Given the description of an element on the screen output the (x, y) to click on. 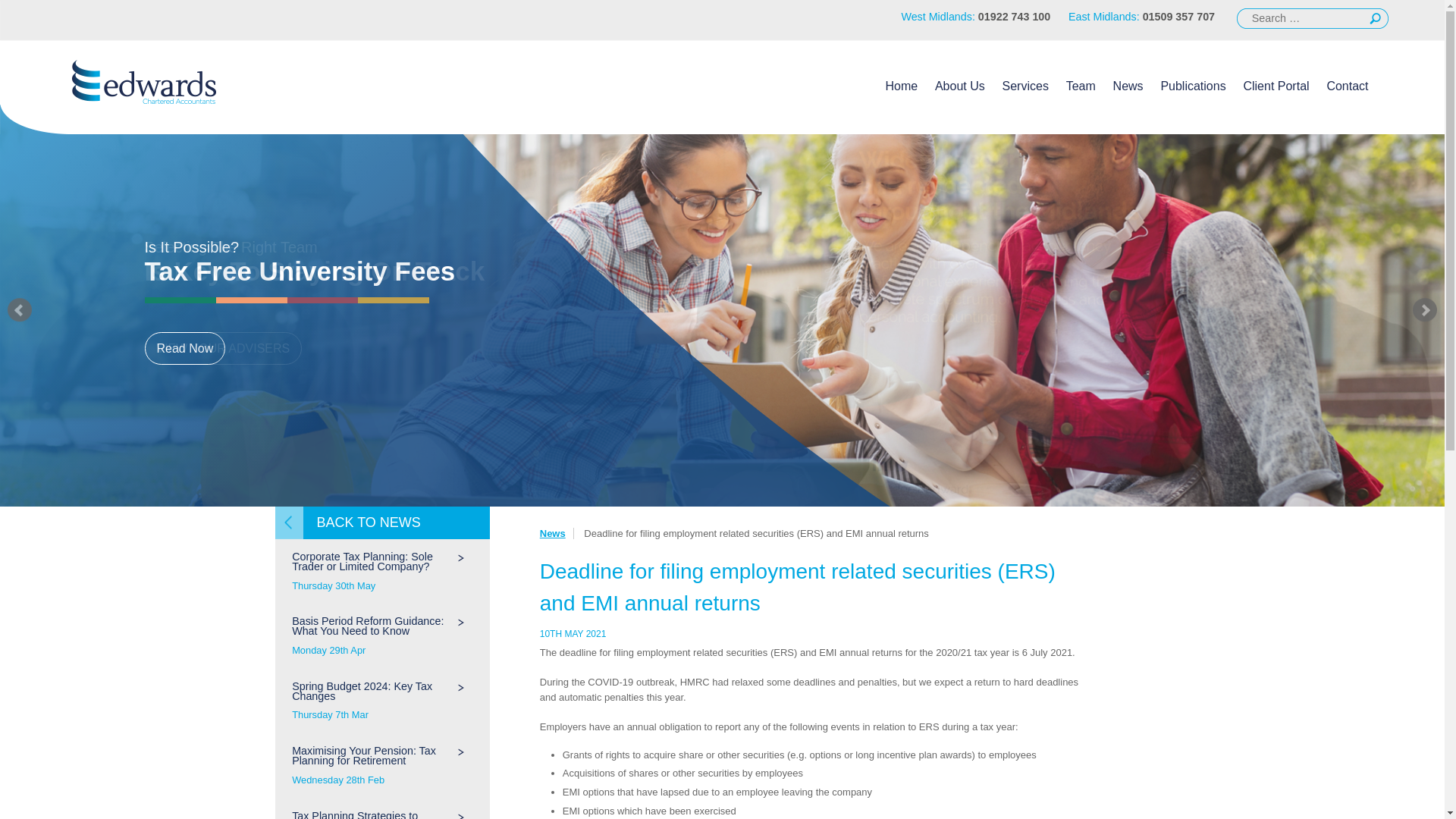
Contact (1347, 84)
Next (1424, 310)
BACK TO NEWS (382, 522)
01509 357 707 (1178, 16)
Home (901, 84)
Publications (1192, 84)
Client Portal (1275, 84)
Read Now (382, 701)
About Us (184, 348)
News (959, 84)
News (553, 532)
Services (1127, 84)
